Given the description of an element on the screen output the (x, y) to click on. 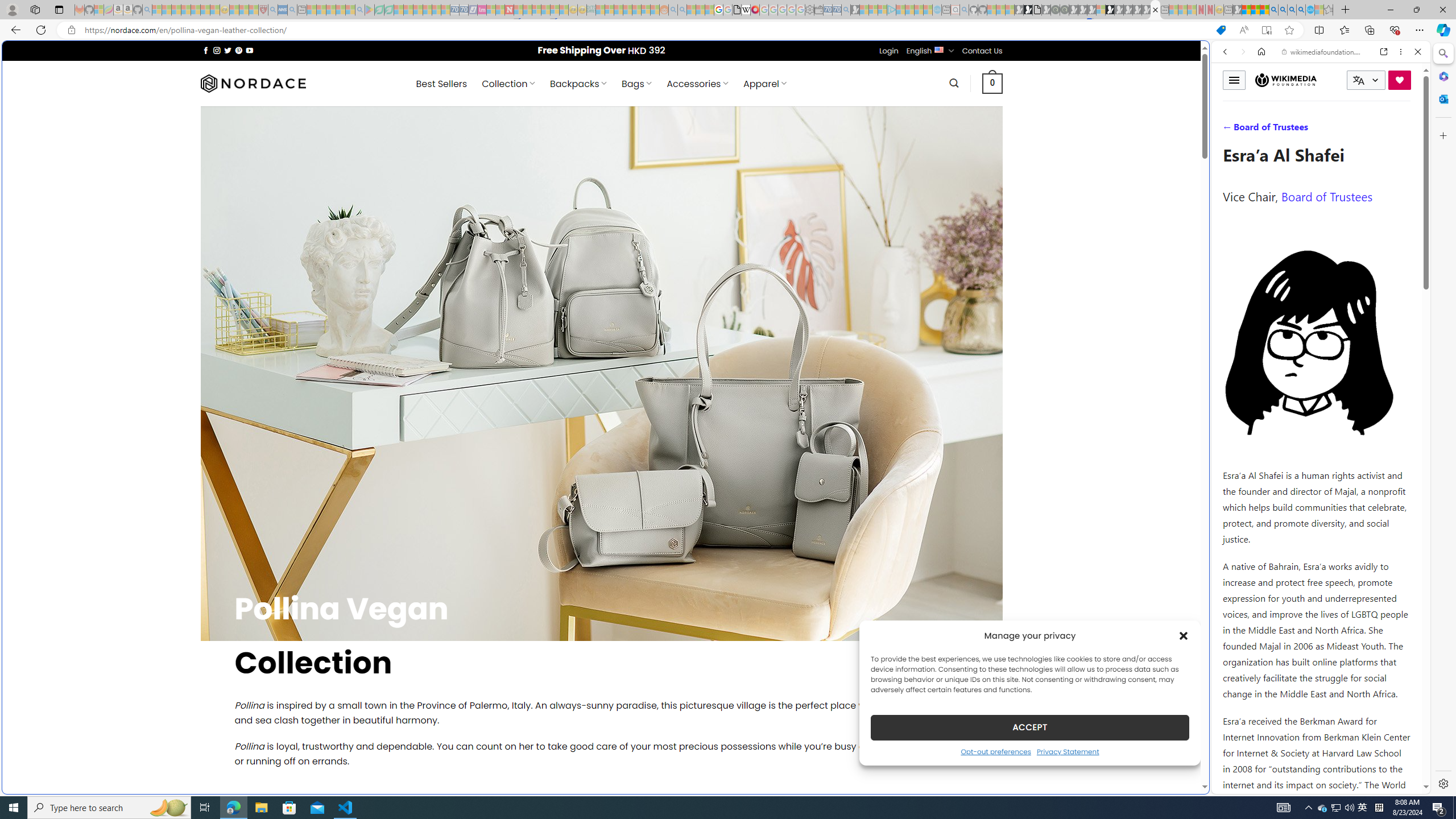
 Best Sellers (441, 83)
WEB   (1230, 130)
